Given the description of an element on the screen output the (x, y) to click on. 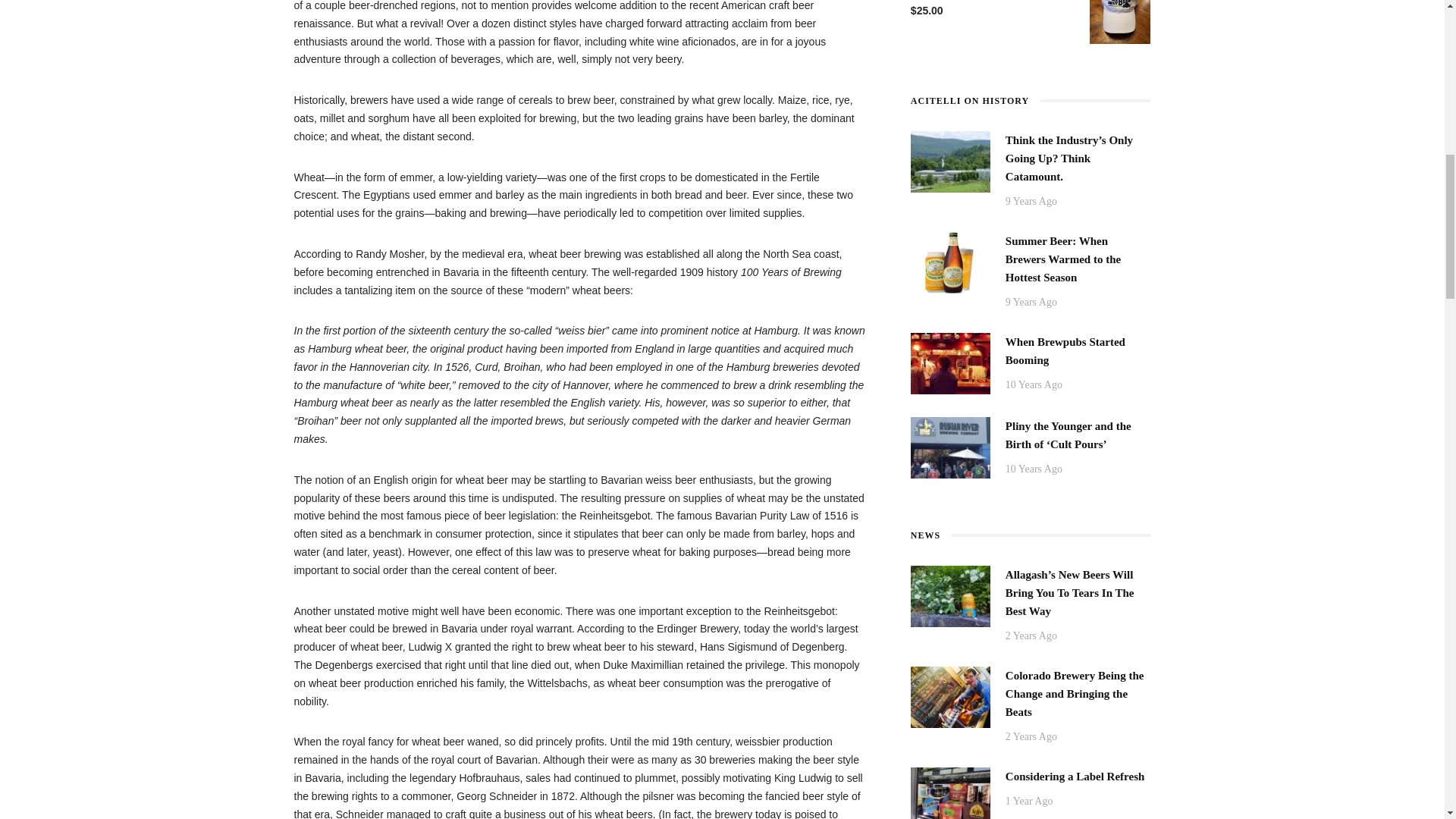
When Brewpubs Started Booming (950, 362)
Summer Beer: When Brewers Warmed to the Hottest Season (1063, 259)
Summer Beer: When Brewers Warmed to the Hottest Season (950, 261)
When Brewpubs Started Booming (1065, 350)
Colorado Brewery Being the Change and Bringing the Beats (950, 695)
